Given the description of an element on the screen output the (x, y) to click on. 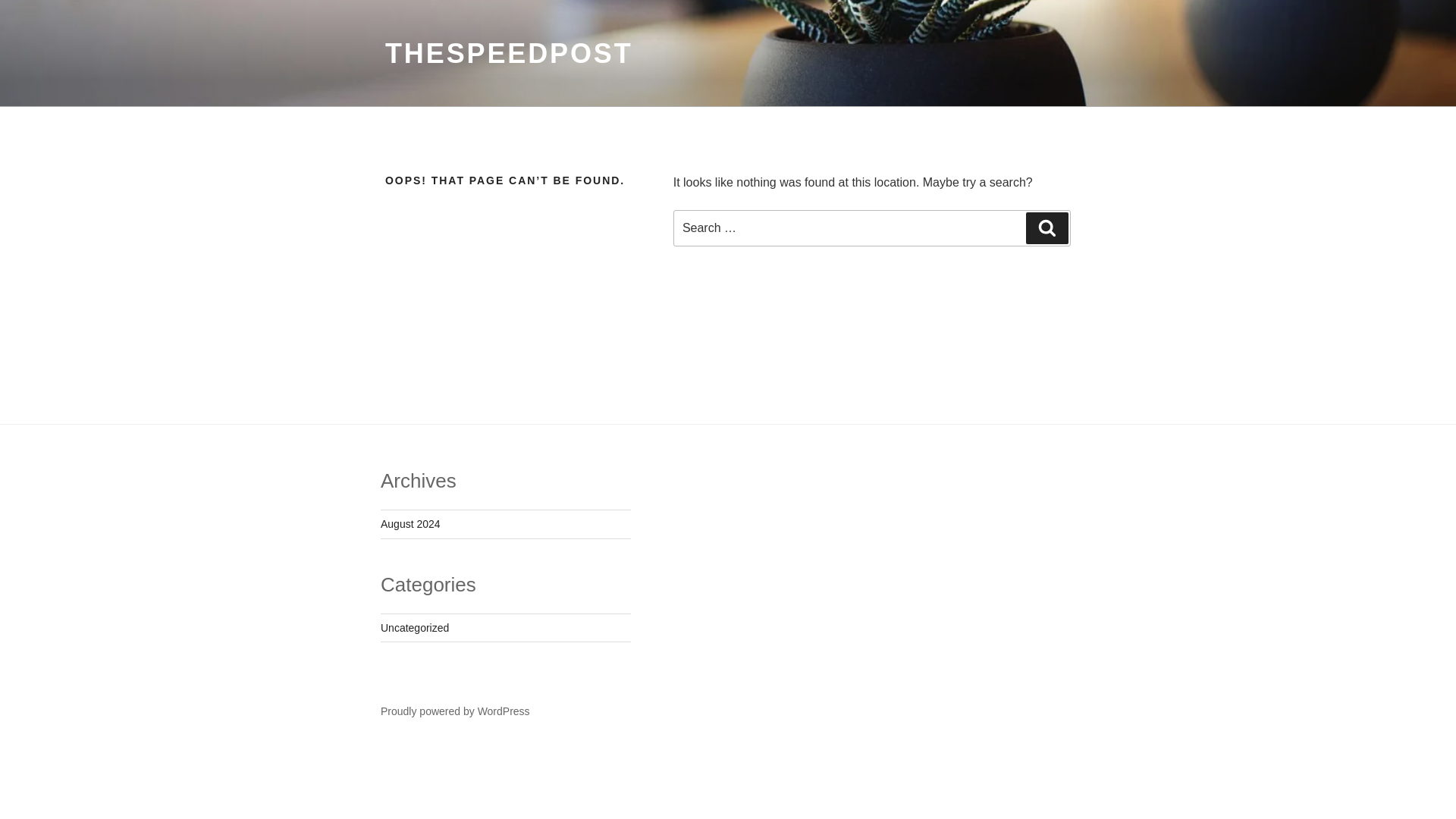
August 2024 (410, 523)
Uncategorized (414, 627)
THESPEEDPOST (509, 52)
Proudly powered by WordPress (454, 711)
Search (1047, 228)
